Given the description of an element on the screen output the (x, y) to click on. 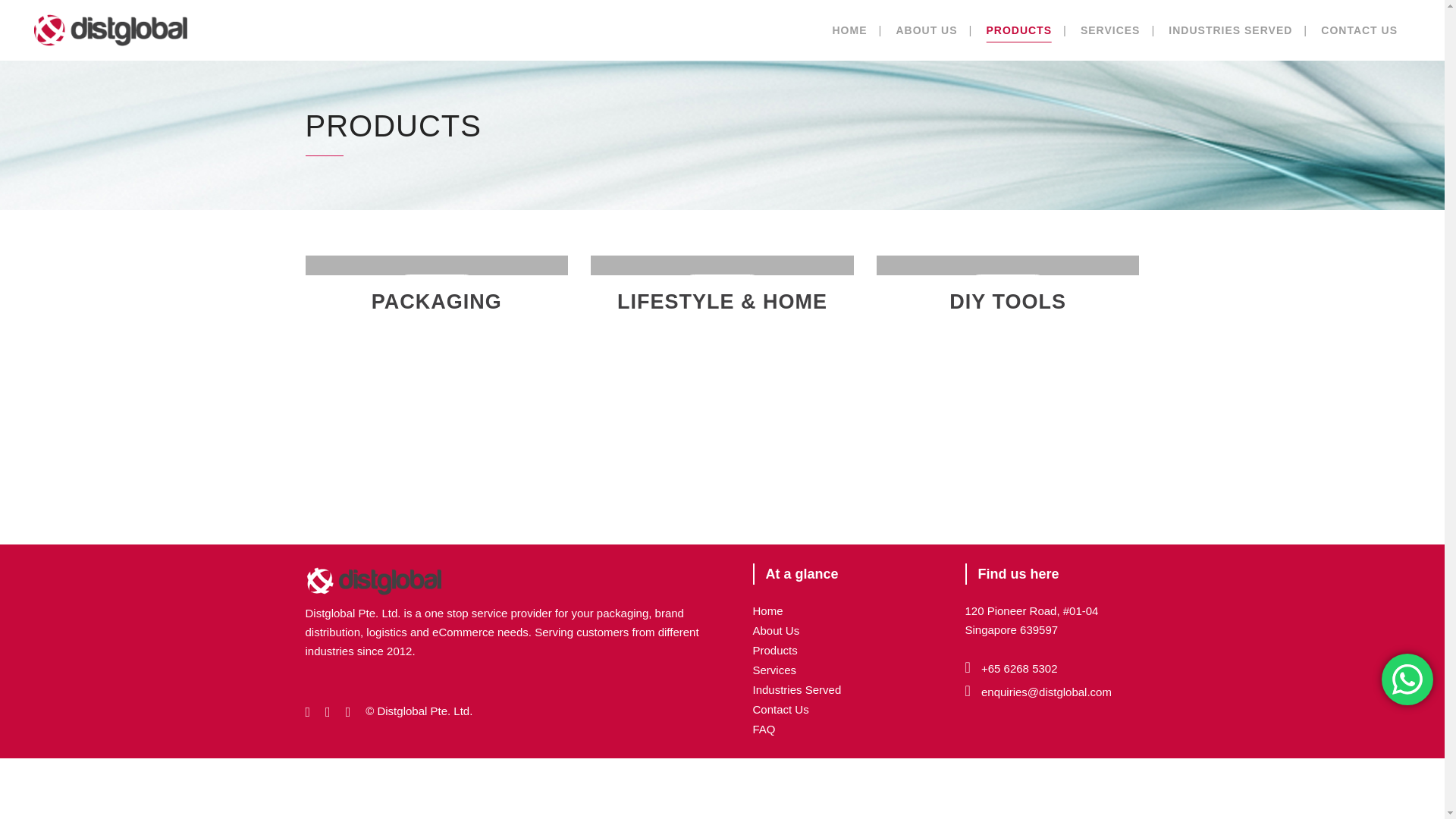
SEE MORE (1007, 289)
ABOUT US (925, 30)
SERVICES (1110, 30)
CONTACT US (1358, 30)
HOME (848, 30)
About Us (775, 630)
WhatsApp us (1406, 679)
Industries Served (796, 689)
Services (774, 669)
Products (774, 649)
Contact Us (780, 708)
PACKAGING (436, 301)
DIY TOOLS (1007, 301)
Home (767, 610)
SEE MORE (721, 289)
